Given the description of an element on the screen output the (x, y) to click on. 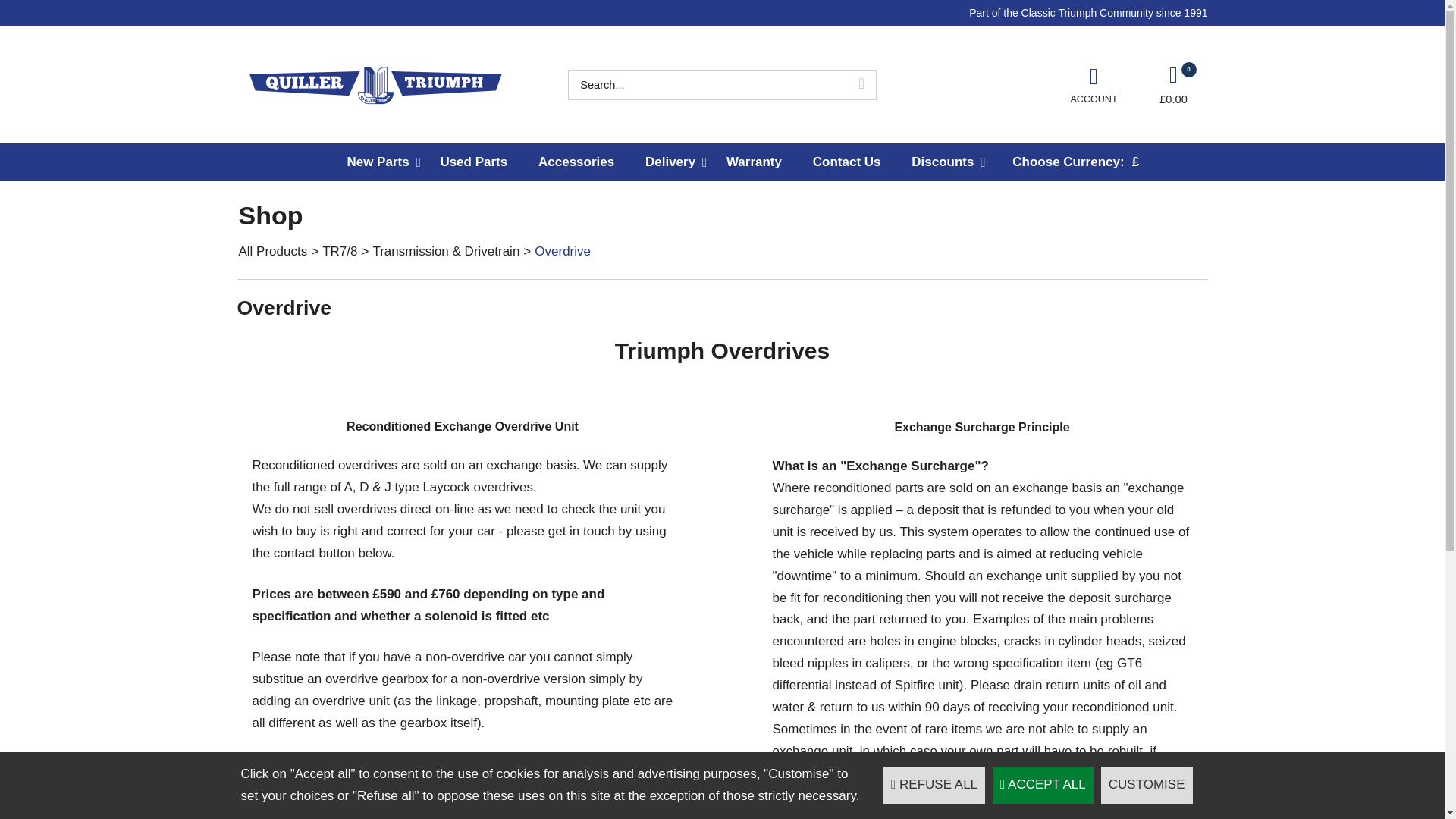
ACCOUNT (1093, 84)
Used Parts (473, 161)
All Products (272, 251)
Overdrive (562, 251)
New Parts (378, 161)
More details on used parts here (460, 807)
Accessories (576, 161)
Contact Us (846, 161)
Search... (707, 84)
Discounts (943, 161)
Search... (707, 84)
Warranty (754, 161)
Delivery (670, 161)
